Given the description of an element on the screen output the (x, y) to click on. 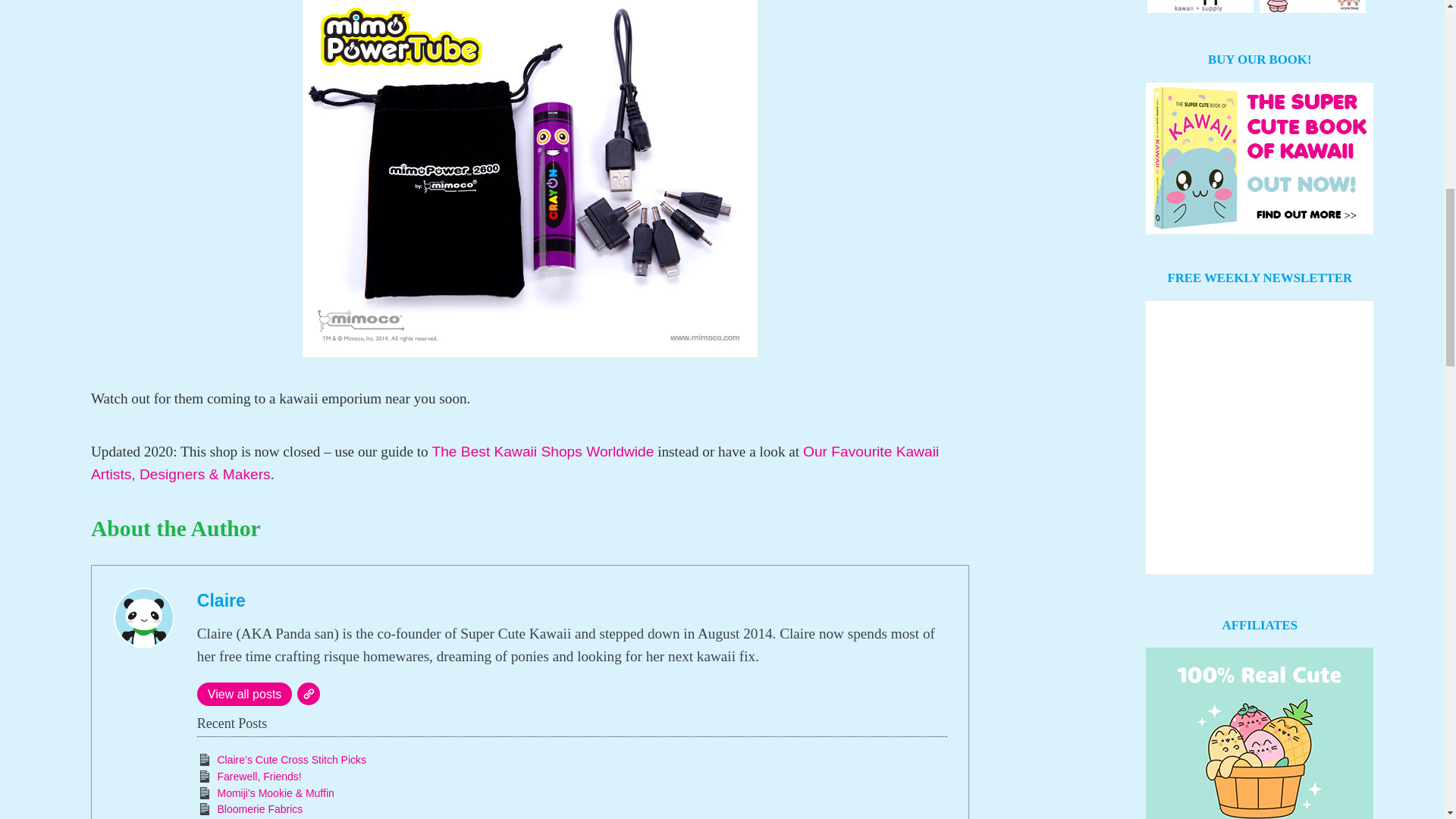
Claire (221, 600)
Farewell, Friends! (258, 776)
Bloomerie Fabrics (259, 808)
View all posts (244, 693)
